Given the description of an element on the screen output the (x, y) to click on. 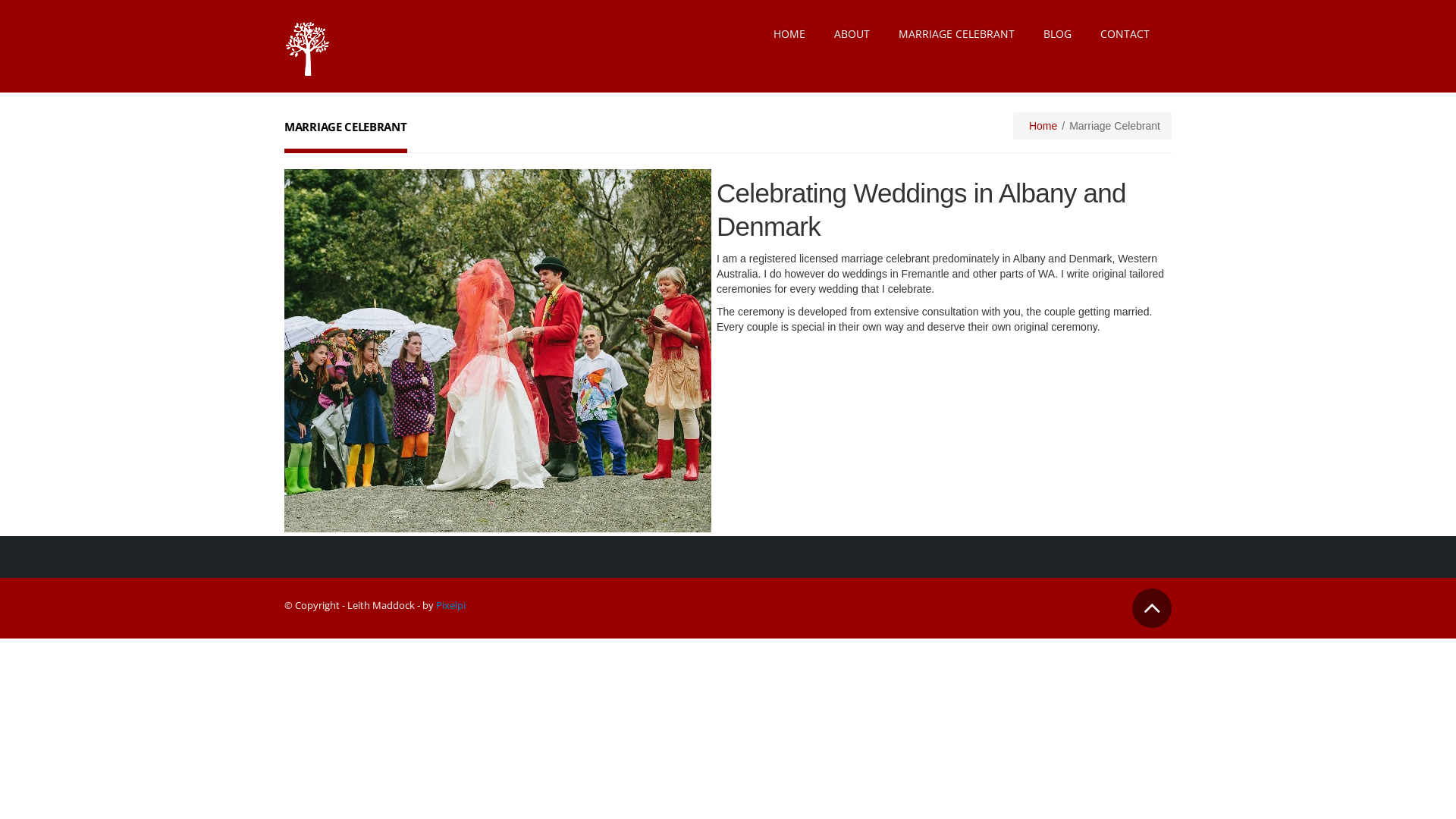
ABOUT Element type: text (851, 34)
HOME Element type: text (789, 34)
CONTACT Element type: text (1124, 34)
MARRIAGE CELEBRANT Element type: text (956, 34)
BLOG Element type: text (1057, 34)
Home Element type: text (1043, 125)
Pixelpi Element type: text (450, 604)
